Given the description of an element on the screen output the (x, y) to click on. 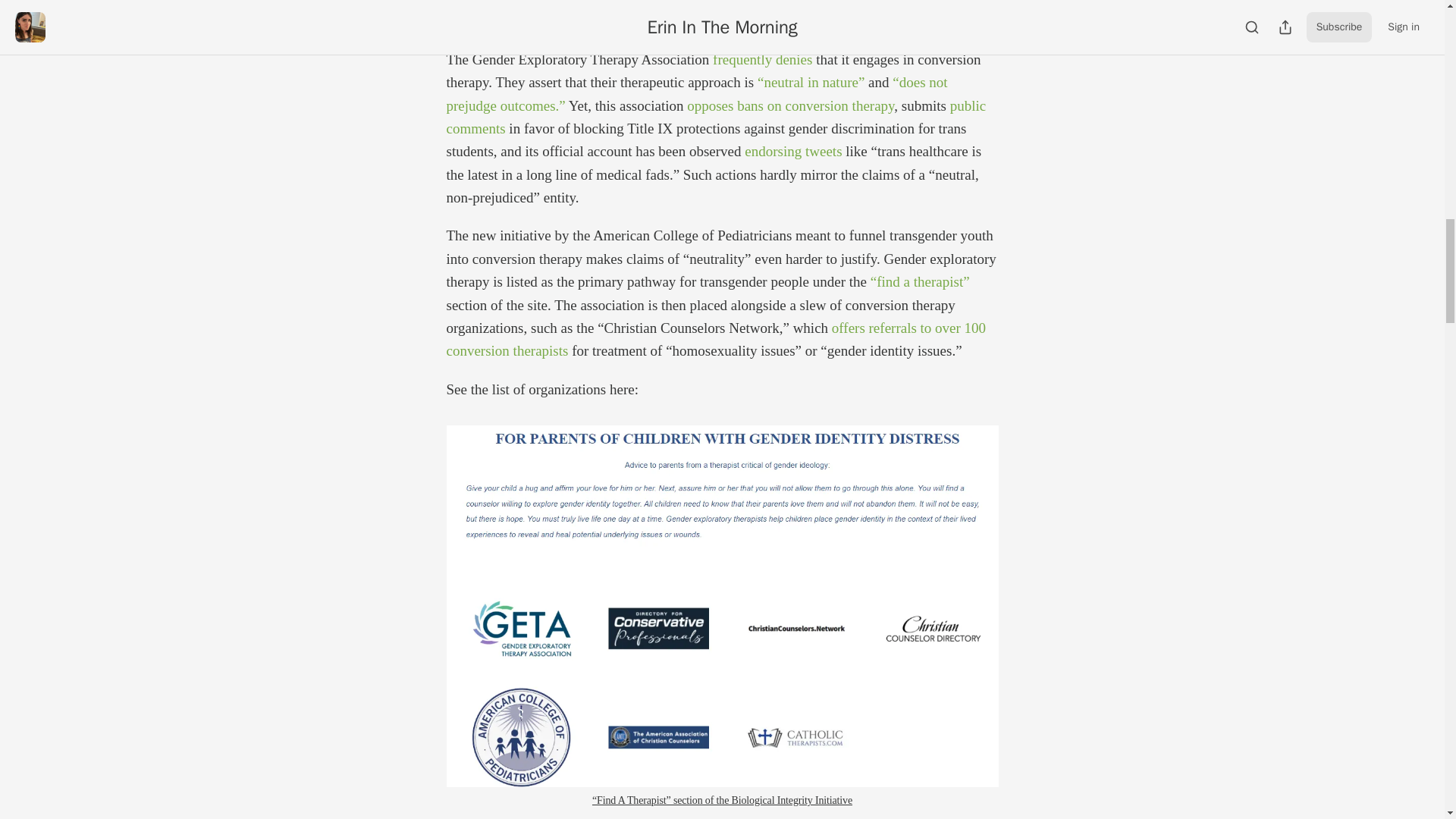
public comments (715, 116)
endorsing tweets (792, 150)
assert that transgender individuals (823, 2)
opposes bans on conversion therapy (790, 105)
frequently denies (762, 59)
